Given the description of an element on the screen output the (x, y) to click on. 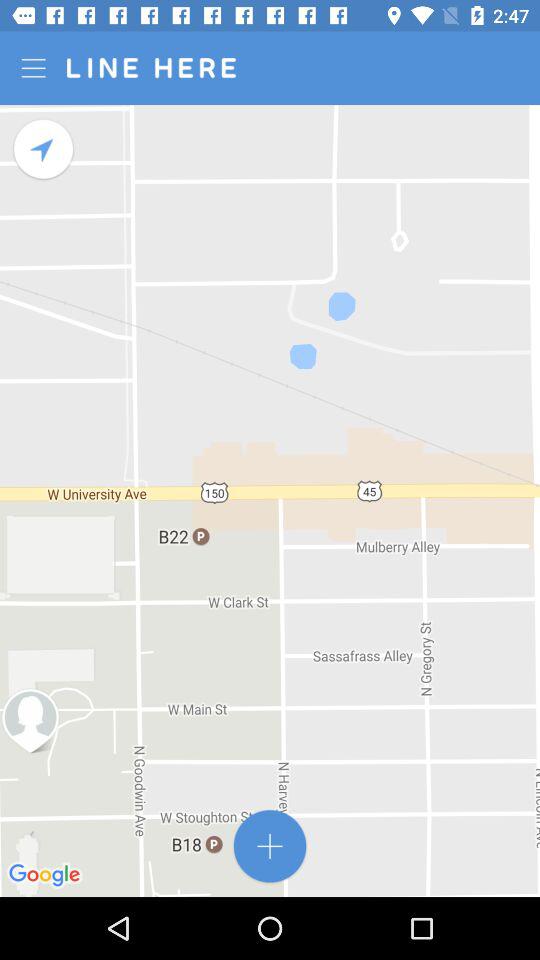
find location (44, 149)
